Given the description of an element on the screen output the (x, y) to click on. 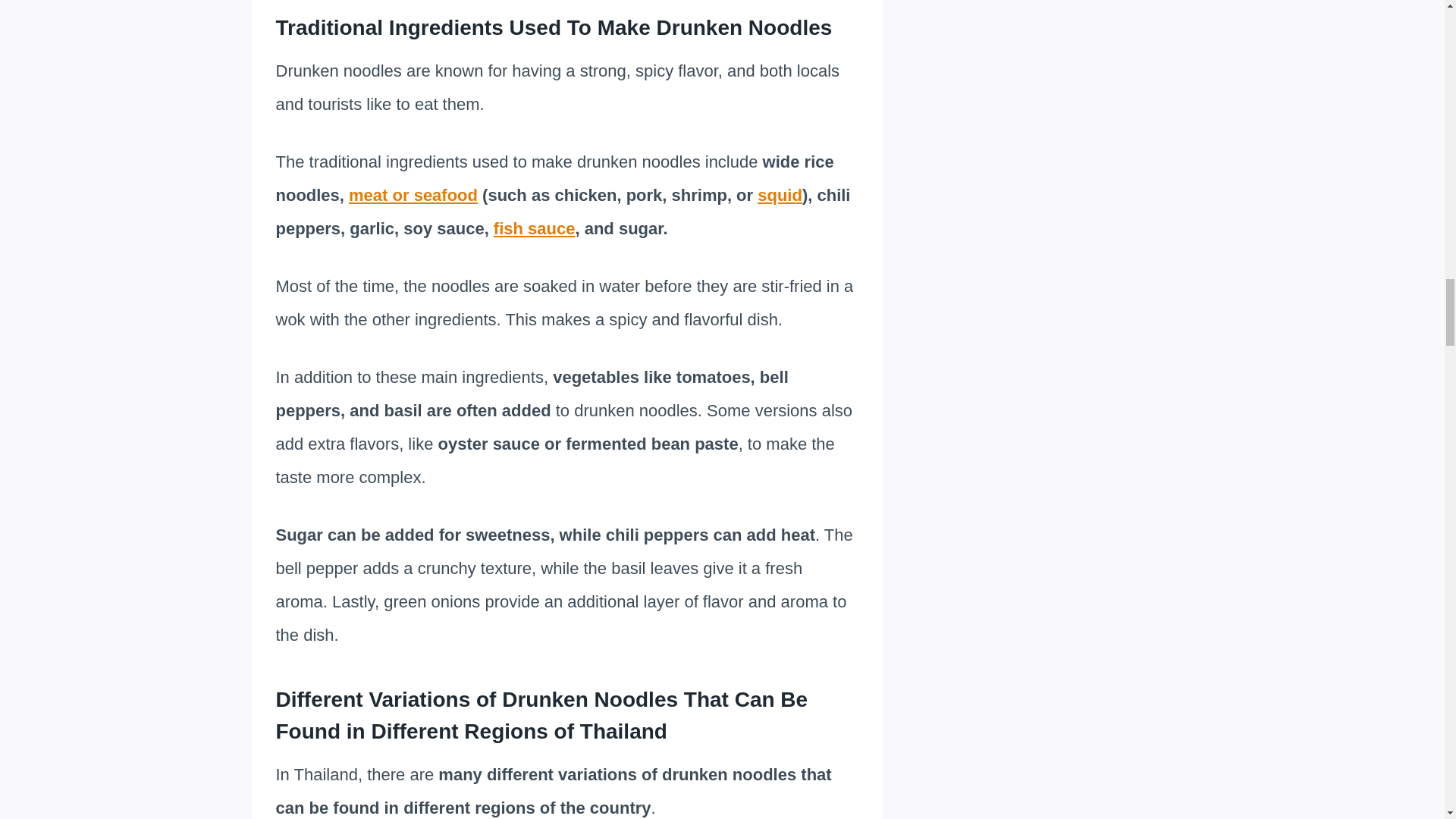
squid (779, 194)
fish sauce (534, 228)
meat or seafood (413, 194)
